Given the description of an element on the screen output the (x, y) to click on. 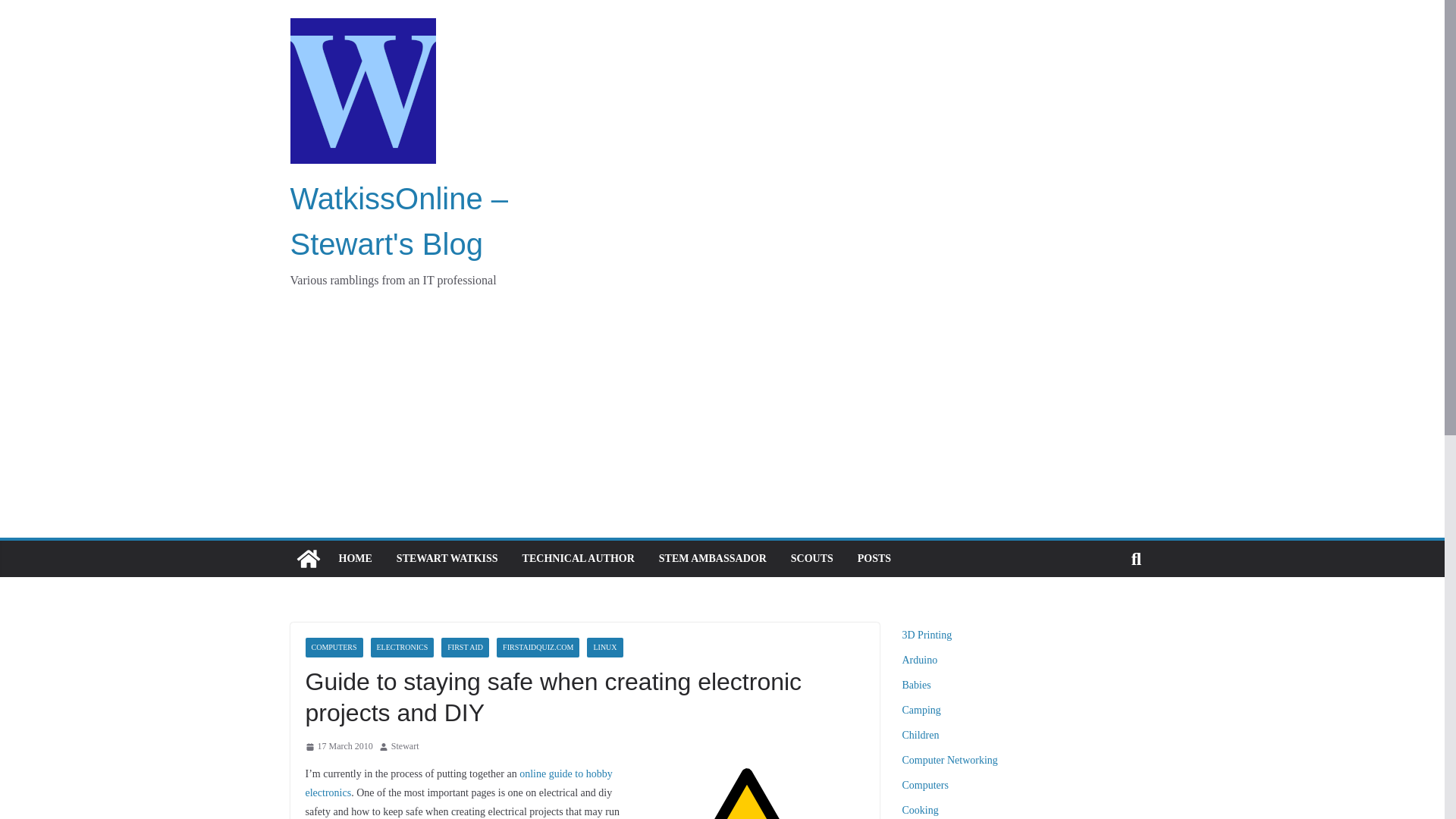
SCOUTS (811, 558)
Computers (925, 785)
COMPUTERS (333, 647)
FIRSTAIDQUIZ.COM (537, 647)
Stewart (405, 746)
FIRST AID (465, 647)
Children (920, 735)
Arduino (919, 659)
Babies (916, 685)
STEM AMBASSADOR (713, 558)
TECHNICAL AUTHOR (578, 558)
ELECTRONICS (402, 647)
Cooking (920, 809)
7:11 pm (338, 746)
3D Printing (927, 634)
